Given the description of an element on the screen output the (x, y) to click on. 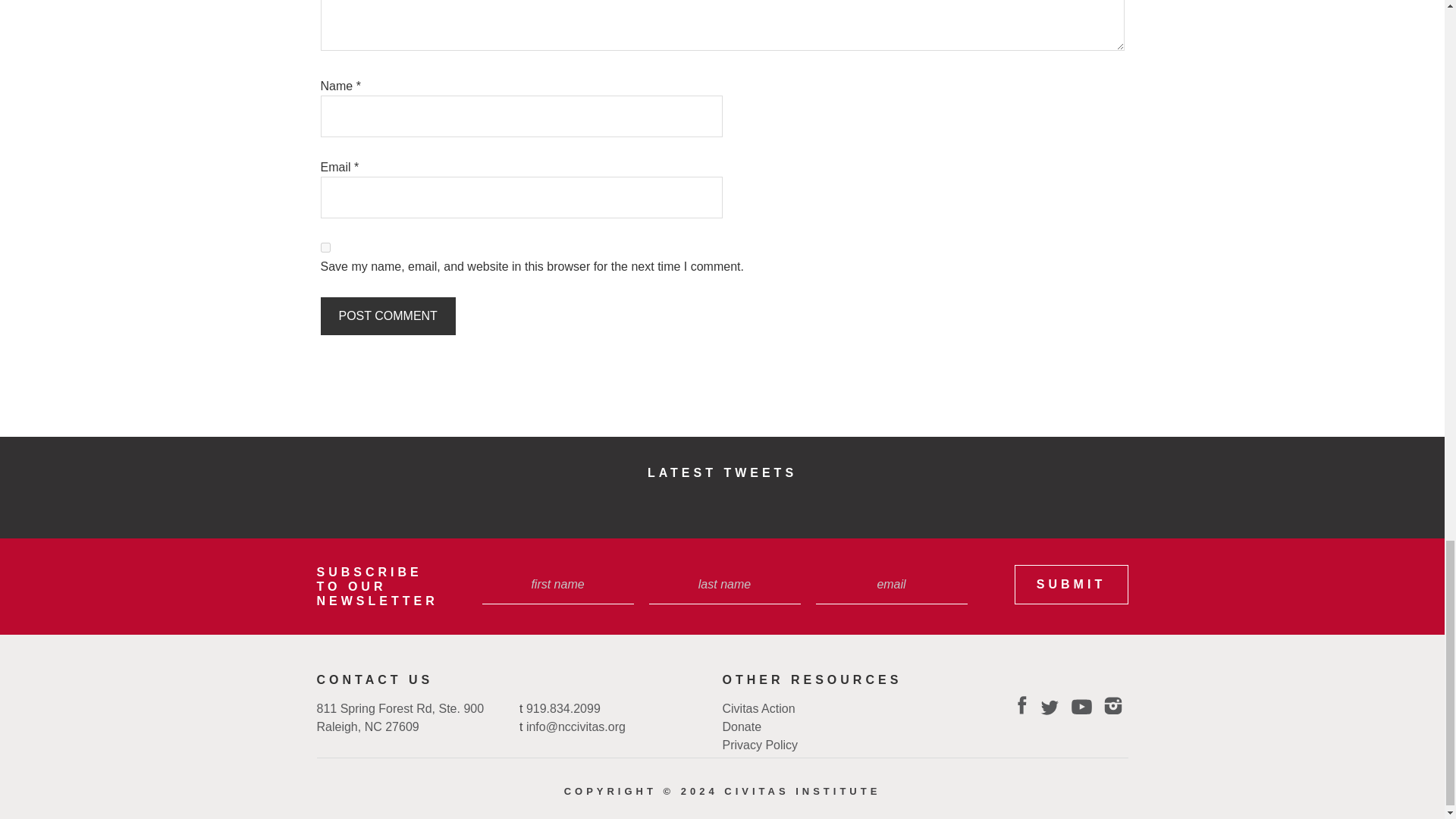
Post Comment (387, 315)
yes (325, 247)
